Given the description of an element on the screen output the (x, y) to click on. 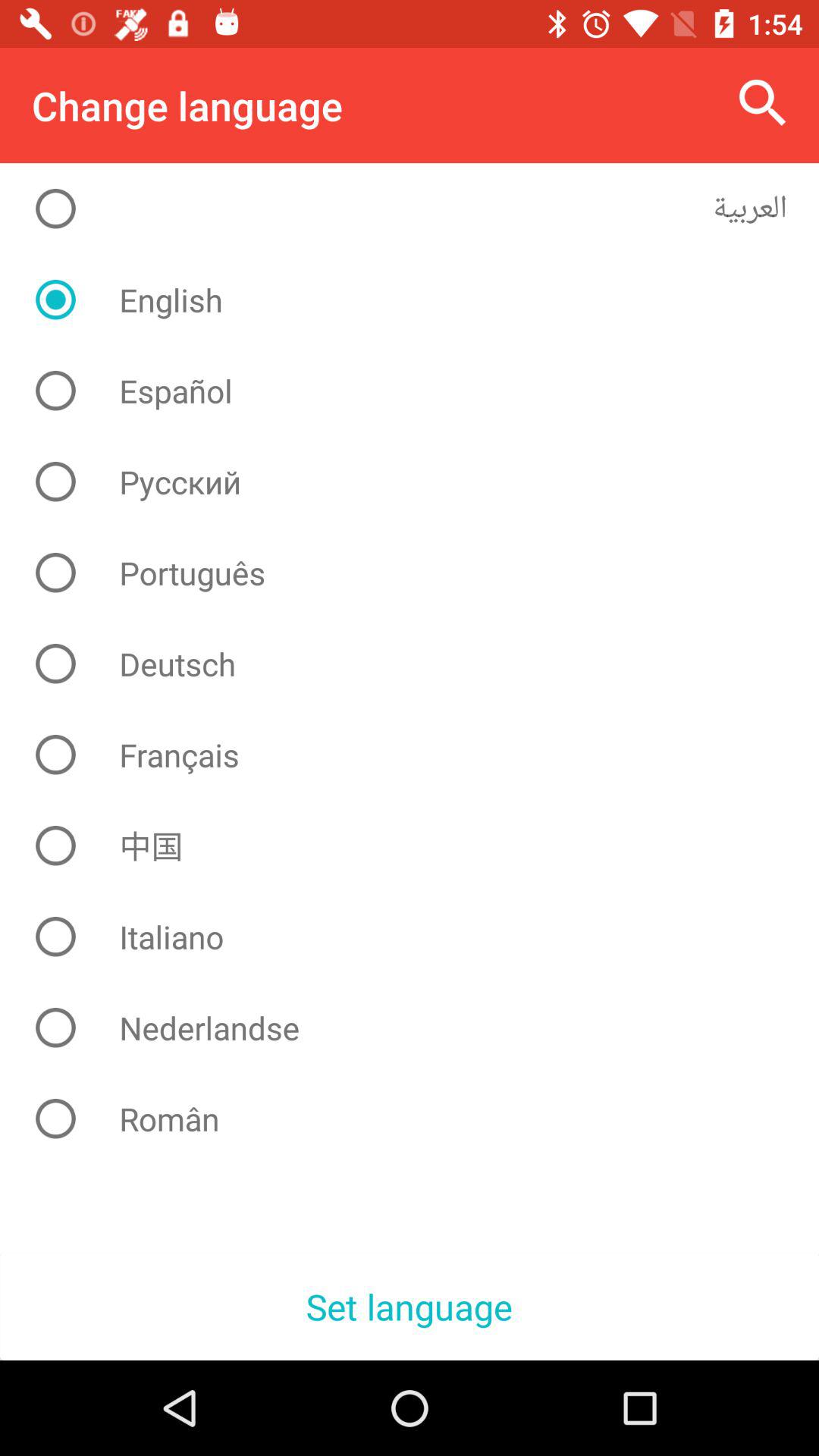
turn off item below the italiano (421, 1027)
